Given the description of an element on the screen output the (x, y) to click on. 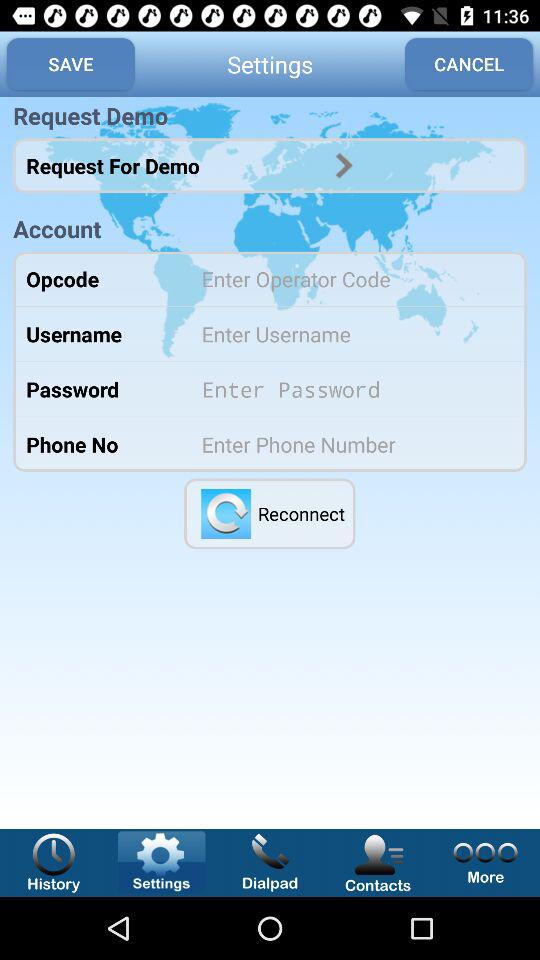
enter password (350, 389)
